Given the description of an element on the screen output the (x, y) to click on. 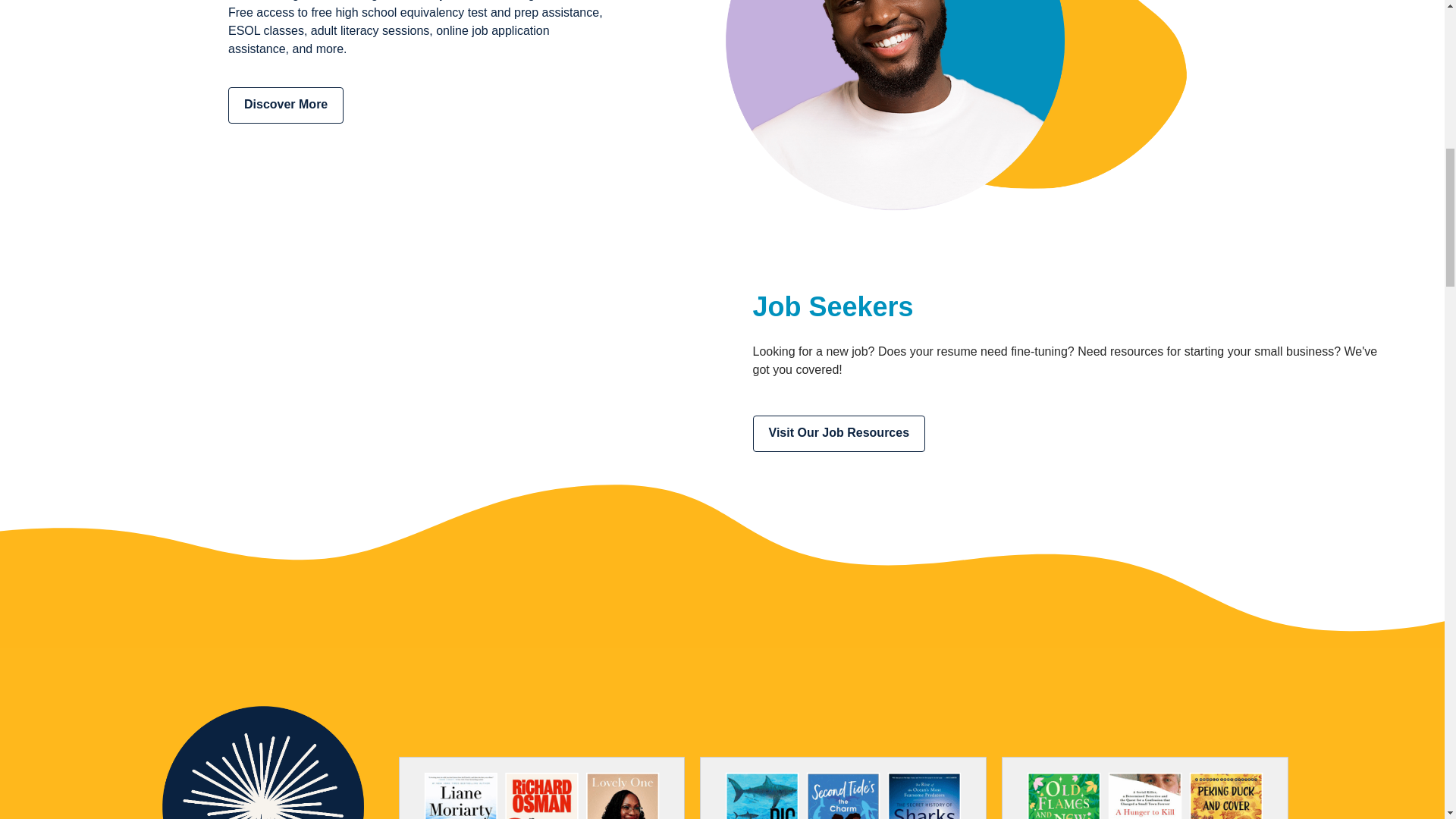
kids-families-spark-01 (261, 760)
adults-smiling-patron-male (955, 112)
